Given the description of an element on the screen output the (x, y) to click on. 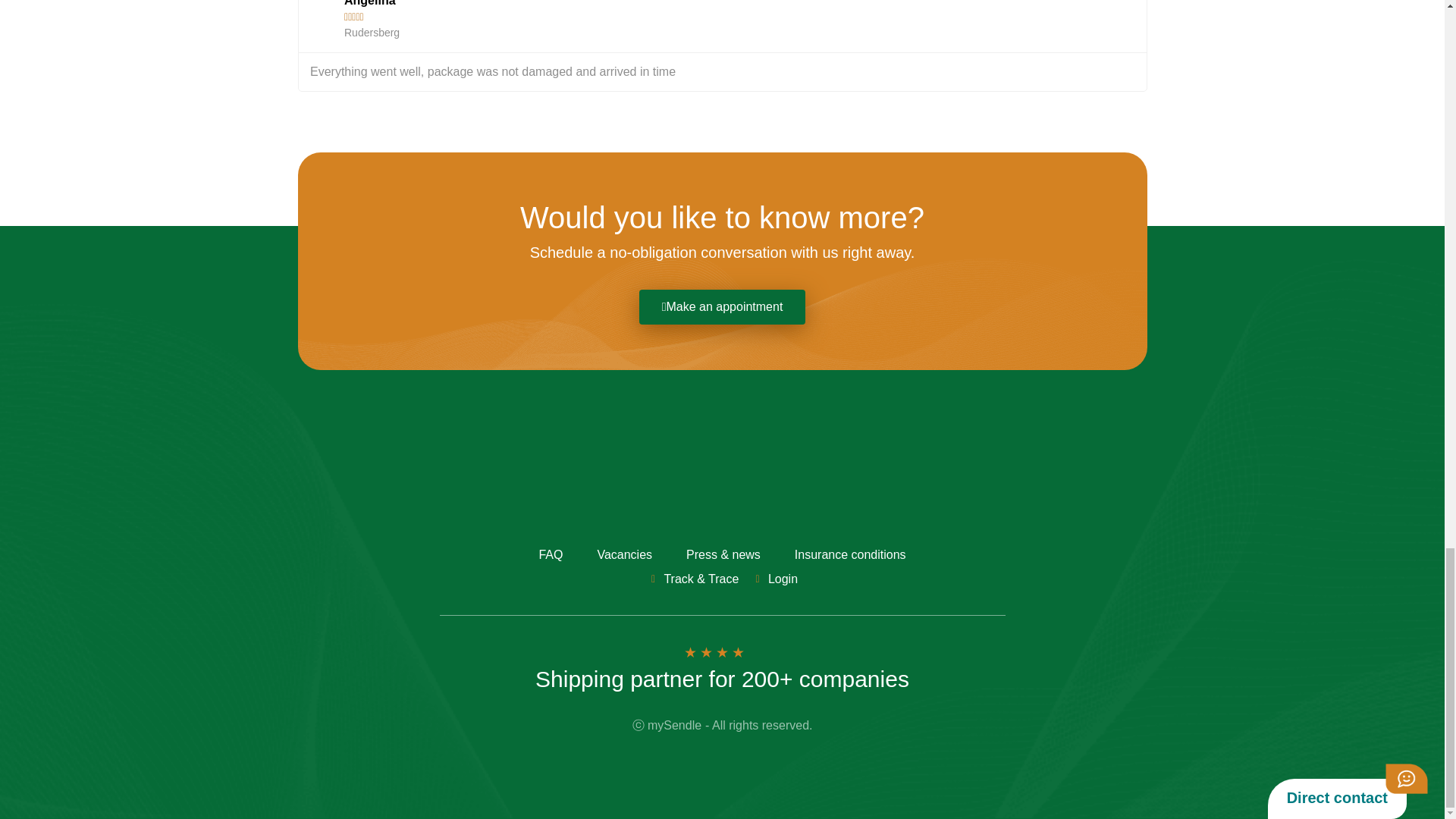
FAQ (550, 555)
Insurance conditions (850, 555)
Vacancies (624, 555)
Make an appointment (722, 306)
